Given the description of an element on the screen output the (x, y) to click on. 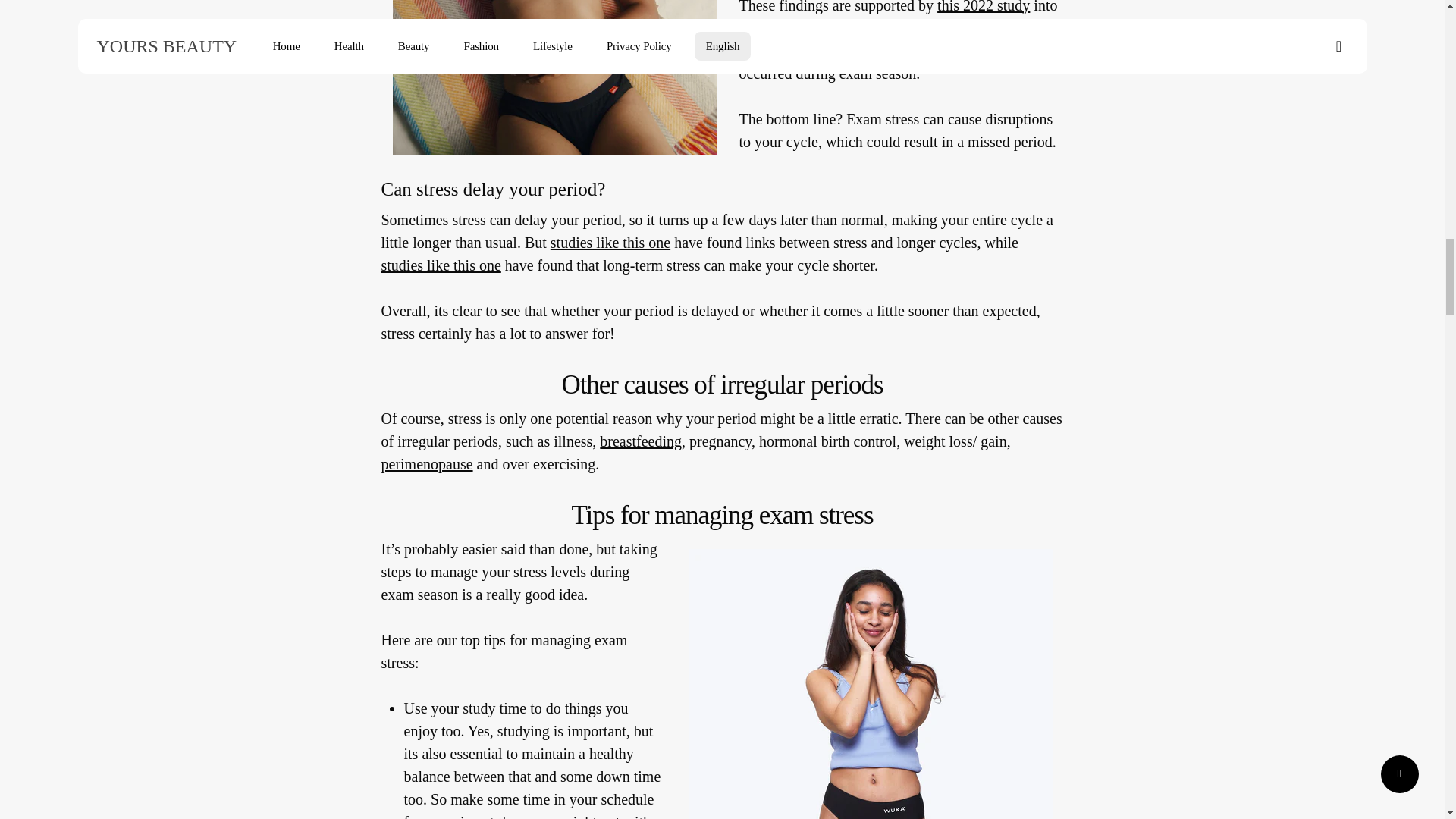
breastfeeding (640, 444)
breastfeeding and the menstrual cycle  (640, 441)
study into exam stress and periods  (983, 6)
study into cycle length and stress  (609, 242)
study into cycle length and stress  (440, 265)
guide to perimenopause (425, 463)
studies like this one (440, 270)
this 2022 study (983, 12)
studies like this one (609, 248)
perimenopause (425, 467)
